Given the description of an element on the screen output the (x, y) to click on. 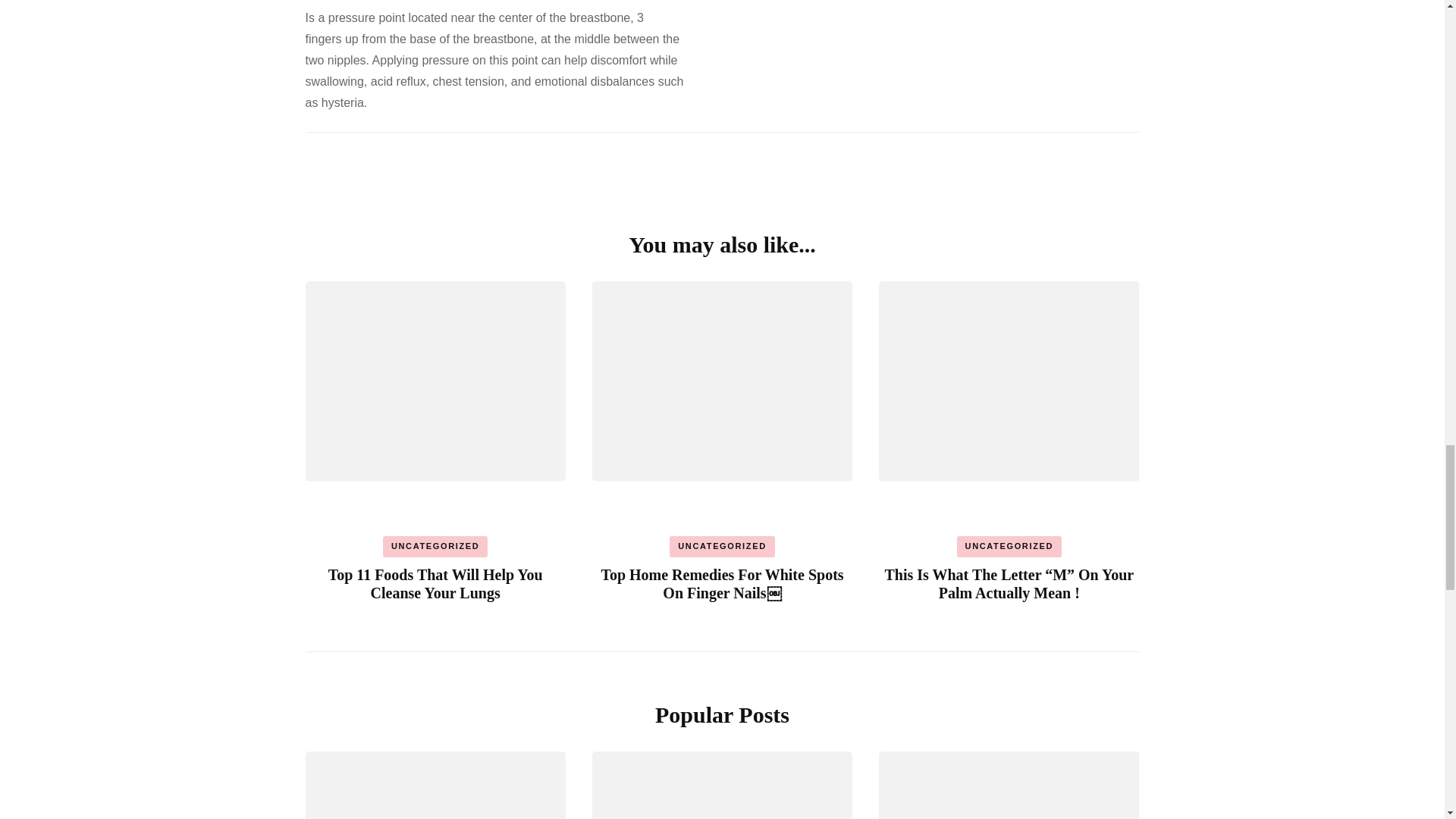
UNCATEGORIZED (434, 546)
UNCATEGORIZED (1009, 546)
UNCATEGORIZED (721, 546)
Top 11 Foods That Will Help You Cleanse Your Lungs (436, 583)
